Given the description of an element on the screen output the (x, y) to click on. 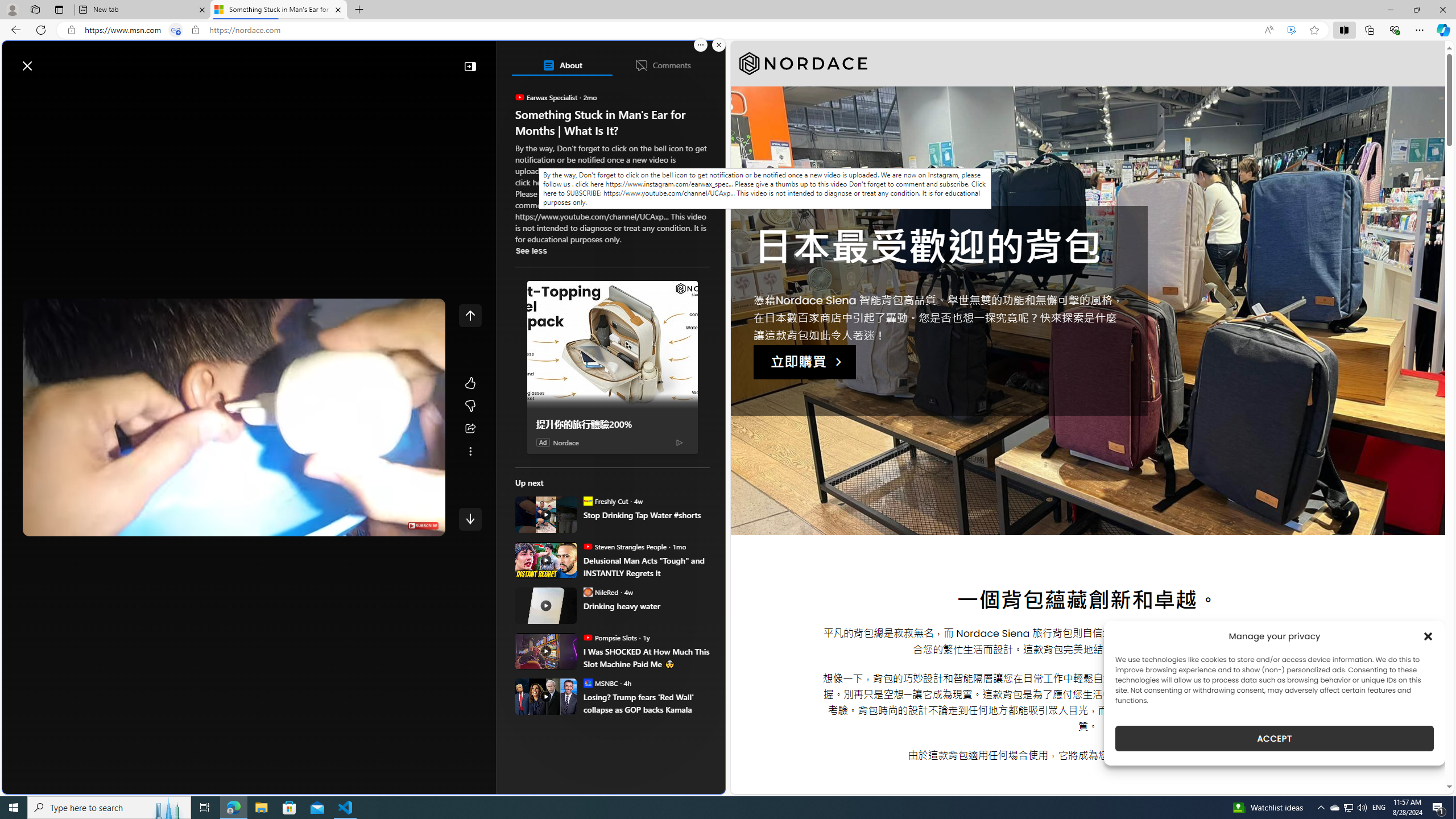
Earwax Specialist (519, 96)
MSNBC MSNBC (600, 682)
Dislike (469, 405)
Close tab (338, 9)
Settings and more (Alt+F) (1419, 29)
Steven Strangles People (587, 546)
MSNBC (587, 682)
Subtitles/closed captions unavailable (343, 525)
Microsoft Start (53, 60)
Microsoft rewards (654, 60)
Add this page to favorites (Ctrl+D) (1314, 29)
Pompsie Slots Pompsie Slots (609, 637)
